Given the description of an element on the screen output the (x, y) to click on. 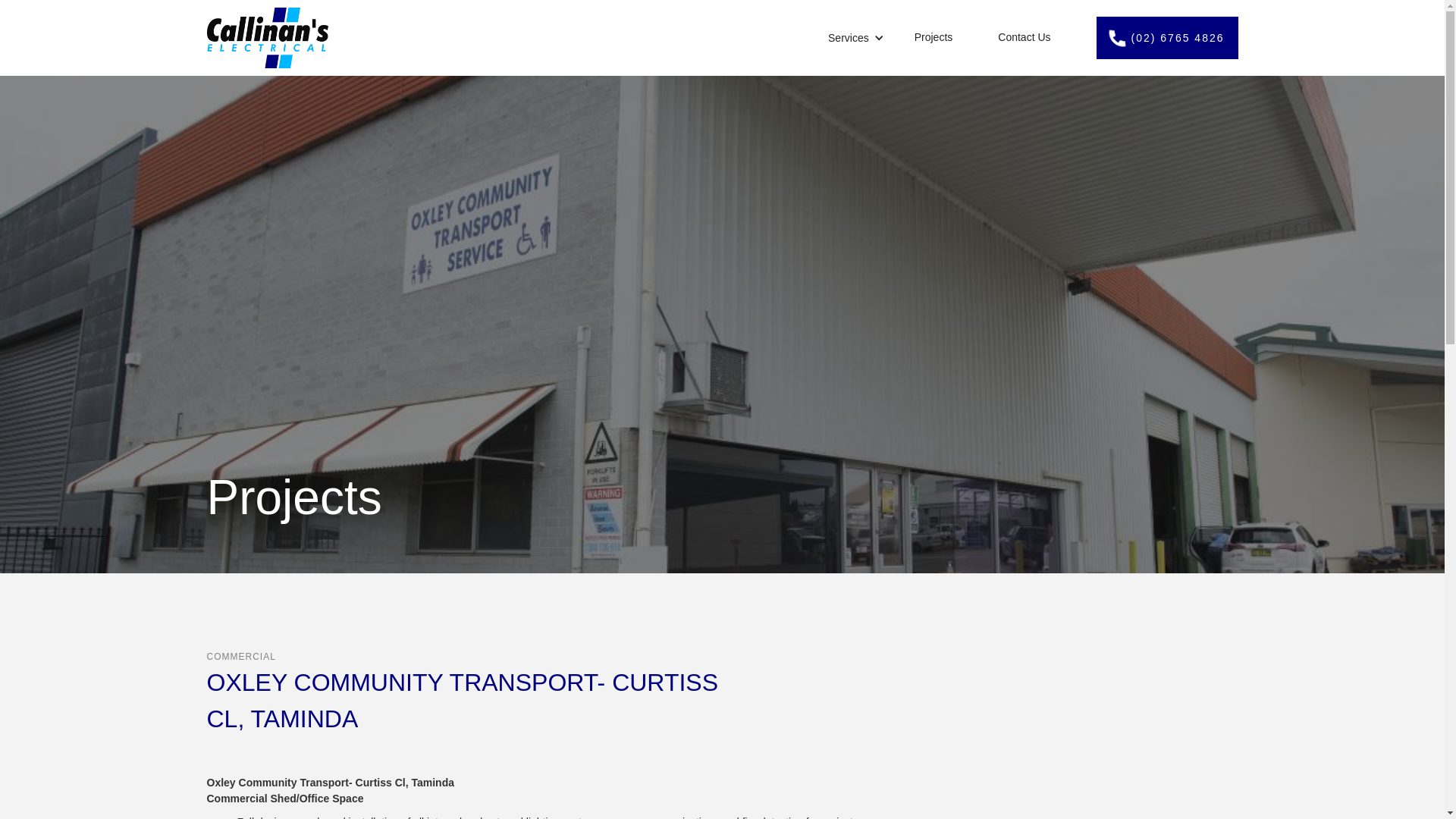
(02) 6765 4826 Element type: text (1167, 37)
Projects Element type: text (933, 37)
Contact Us Element type: text (1023, 37)
